Given the description of an element on the screen output the (x, y) to click on. 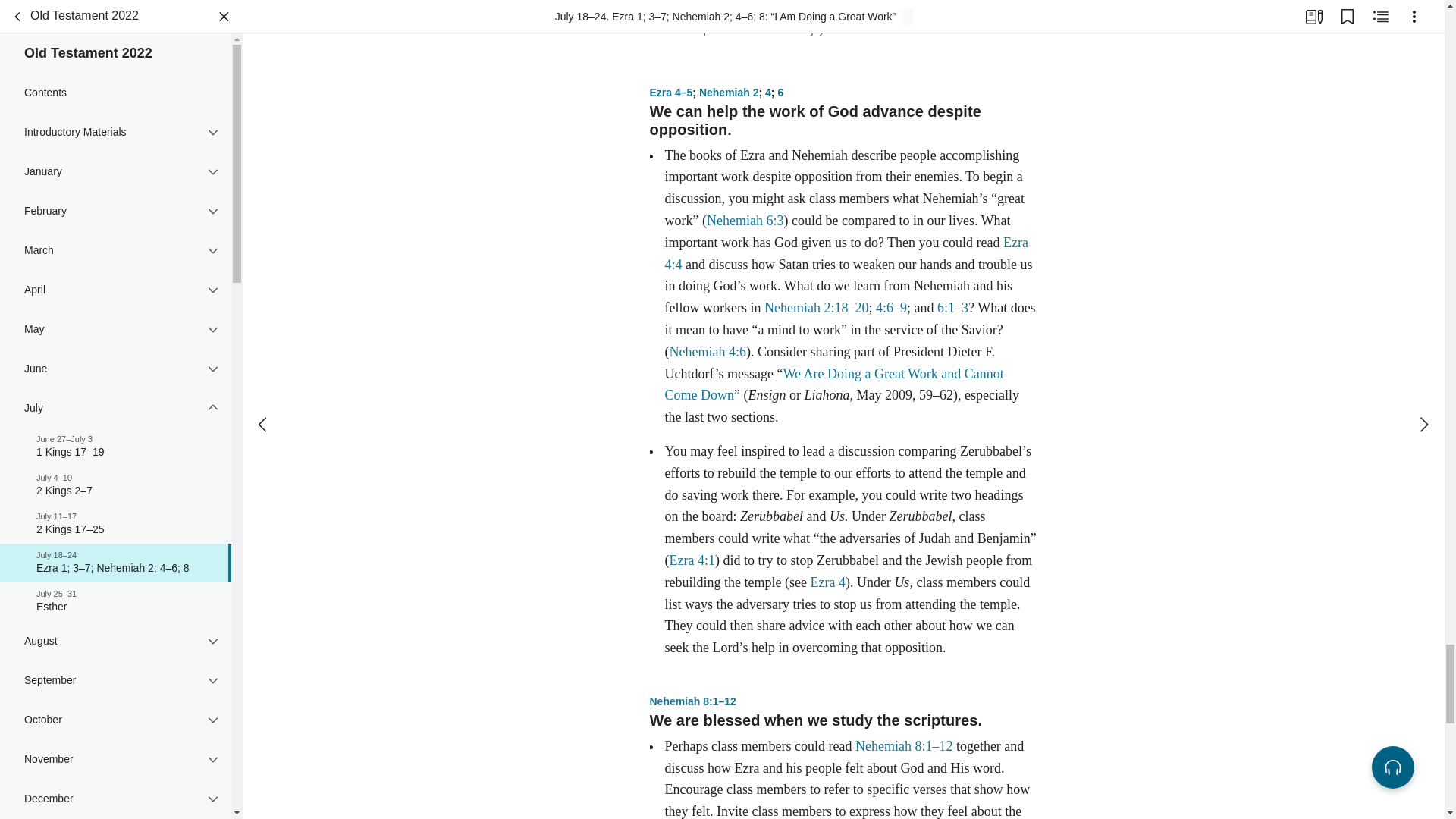
Nehemiah 2 (728, 92)
Ezra 4:4 (845, 253)
Nehemiah 6:3 (744, 220)
